Given the description of an element on the screen output the (x, y) to click on. 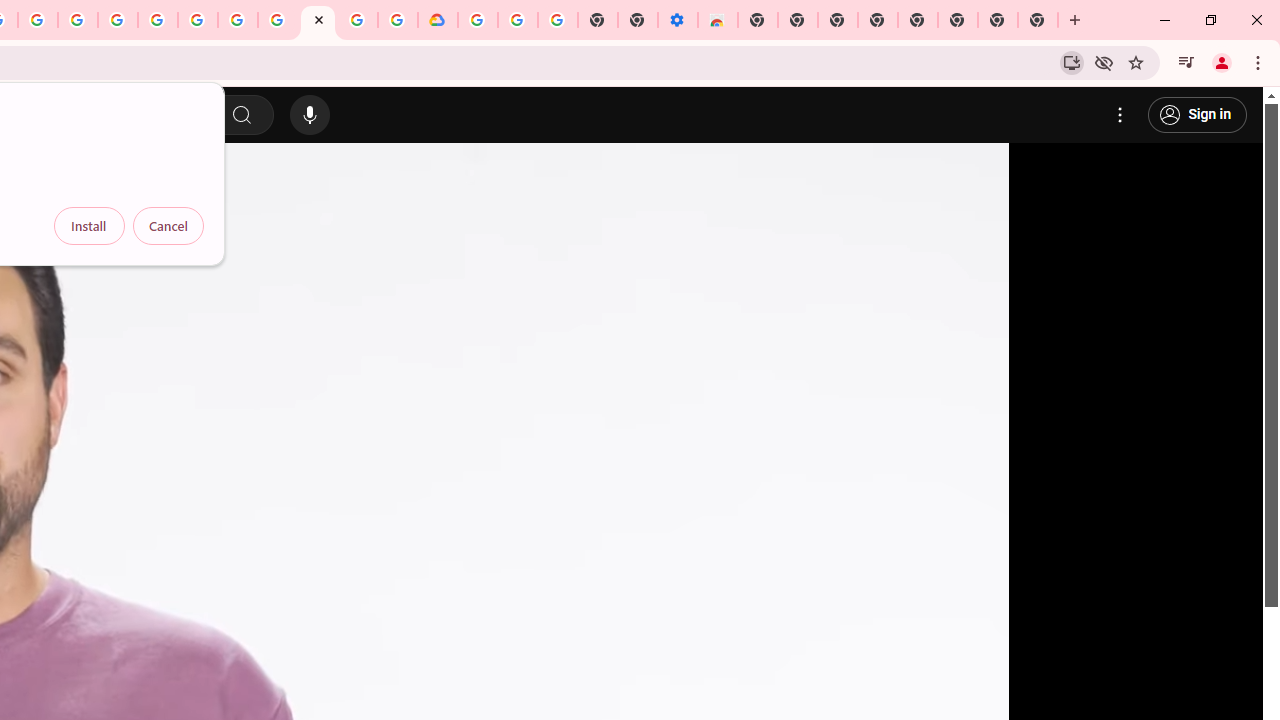
Ad Settings (118, 20)
Chrome Web Store - Accessibility extensions (717, 20)
